Given the description of an element on the screen output the (x, y) to click on. 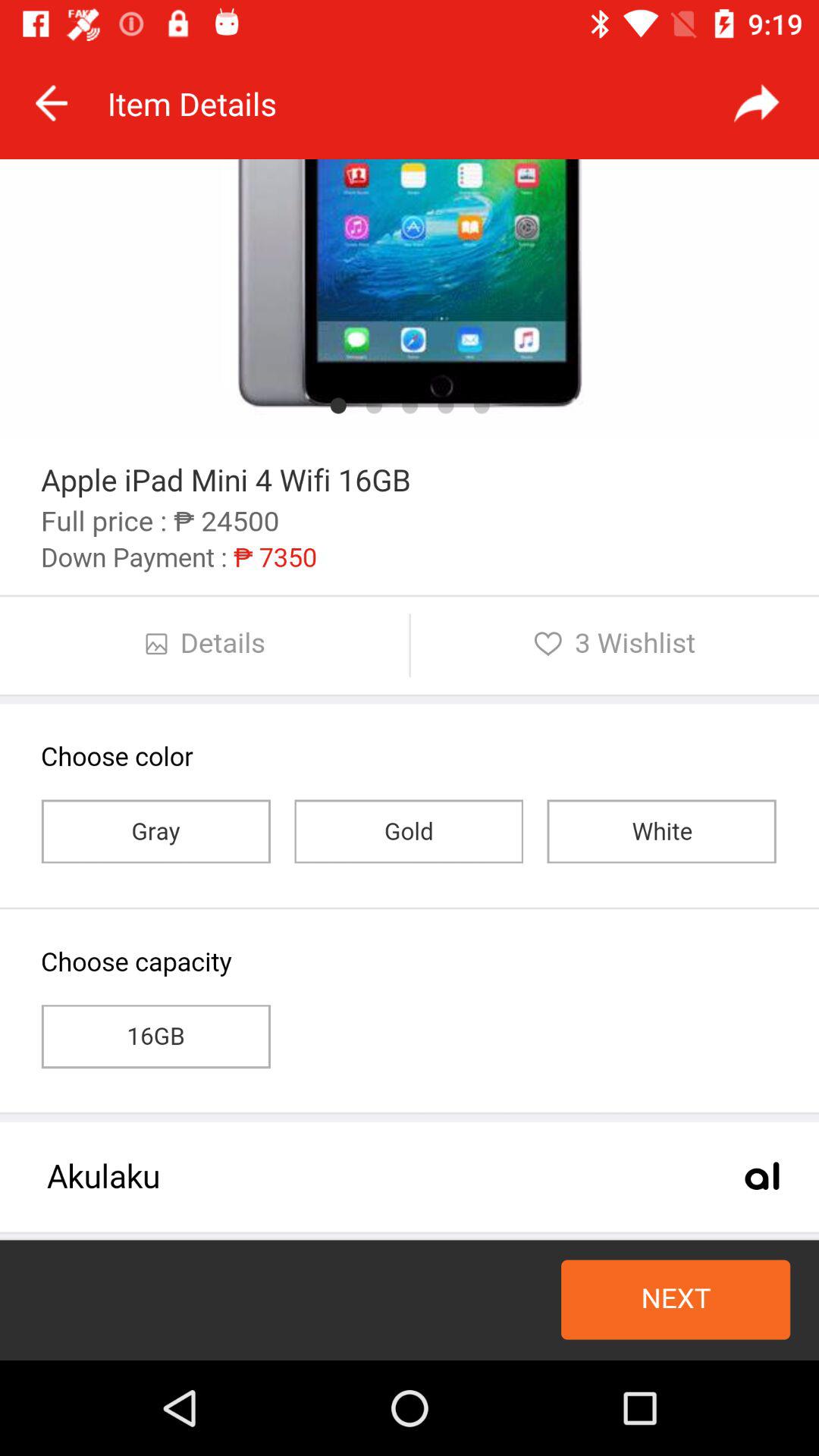
share the product details (756, 103)
